Given the description of an element on the screen output the (x, y) to click on. 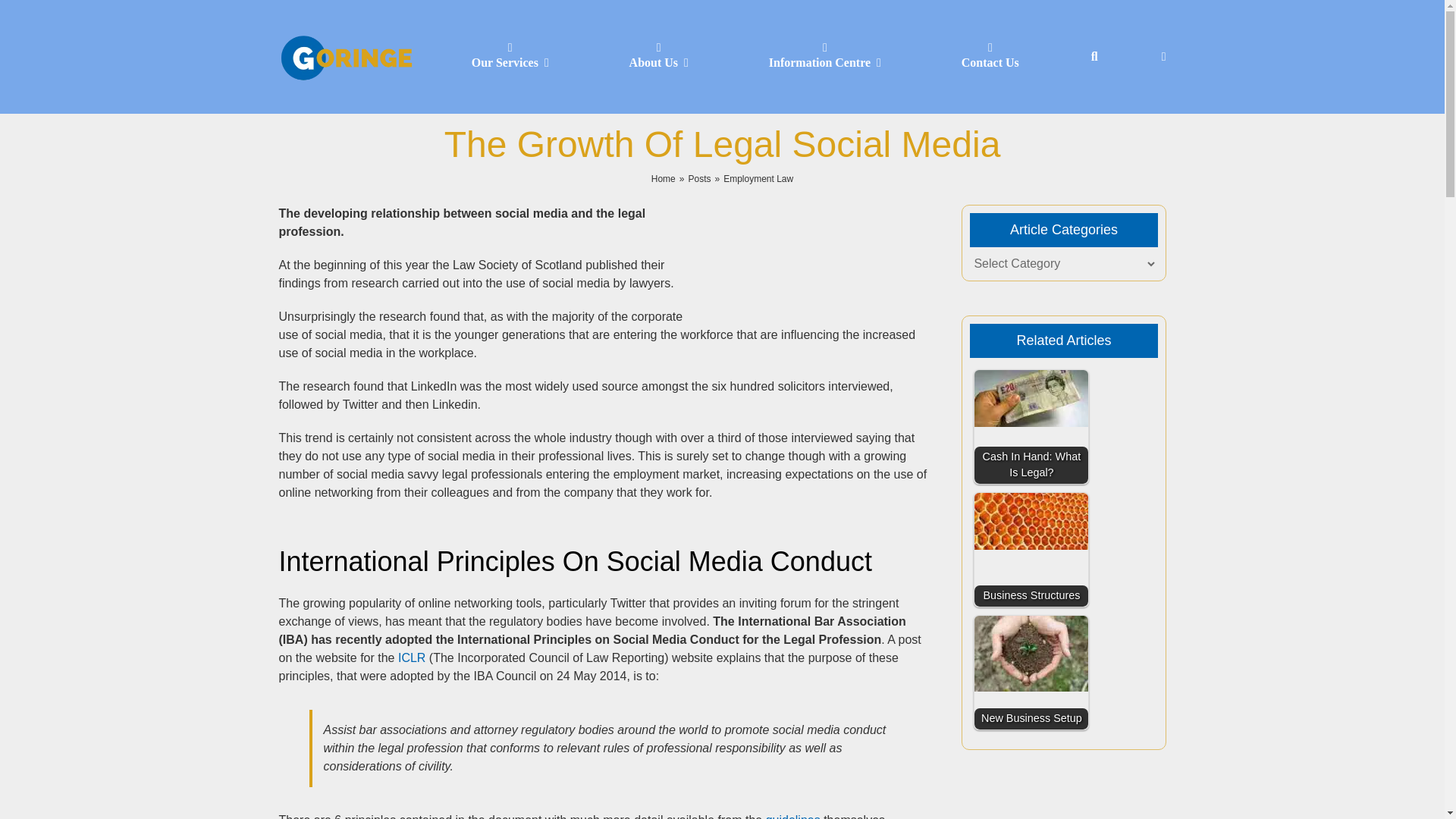
Our Services (510, 56)
Information Centre (824, 56)
Newsletter Subscription (1163, 56)
Search (1093, 56)
About Us (659, 56)
